Given the description of an element on the screen output the (x, y) to click on. 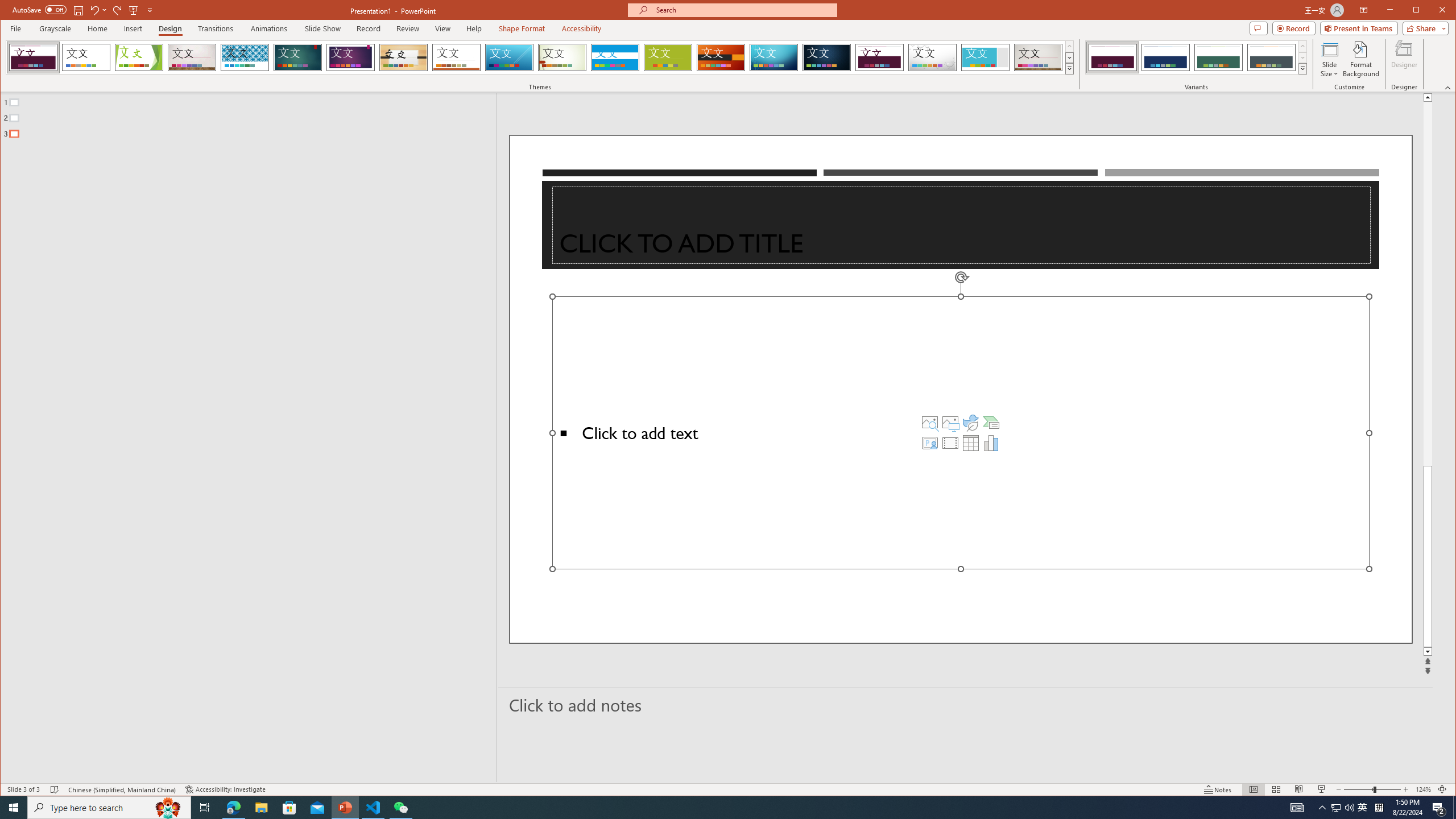
Insert a SmartArt Graphic (991, 422)
AutomationID: ThemeVariantsGallery (1196, 57)
Dividend Variant 2 (1165, 57)
Droplet (932, 57)
Insert Video (949, 443)
Gallery (1037, 57)
Ion Boardroom (350, 57)
